Given the description of an element on the screen output the (x, y) to click on. 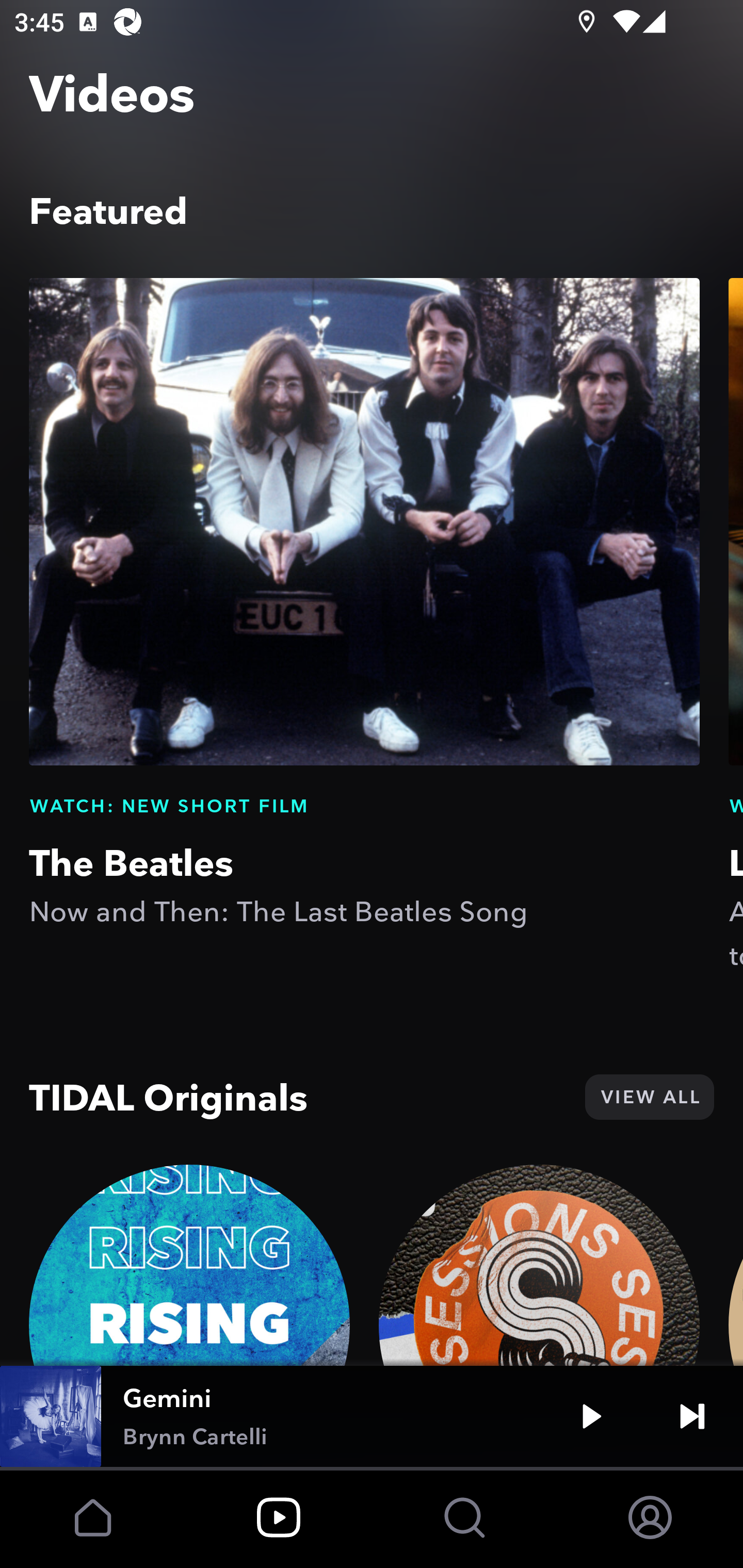
VIEW ALL (649, 1096)
Gemini Brynn Cartelli Play (371, 1416)
Play (590, 1416)
